Given the description of an element on the screen output the (x, y) to click on. 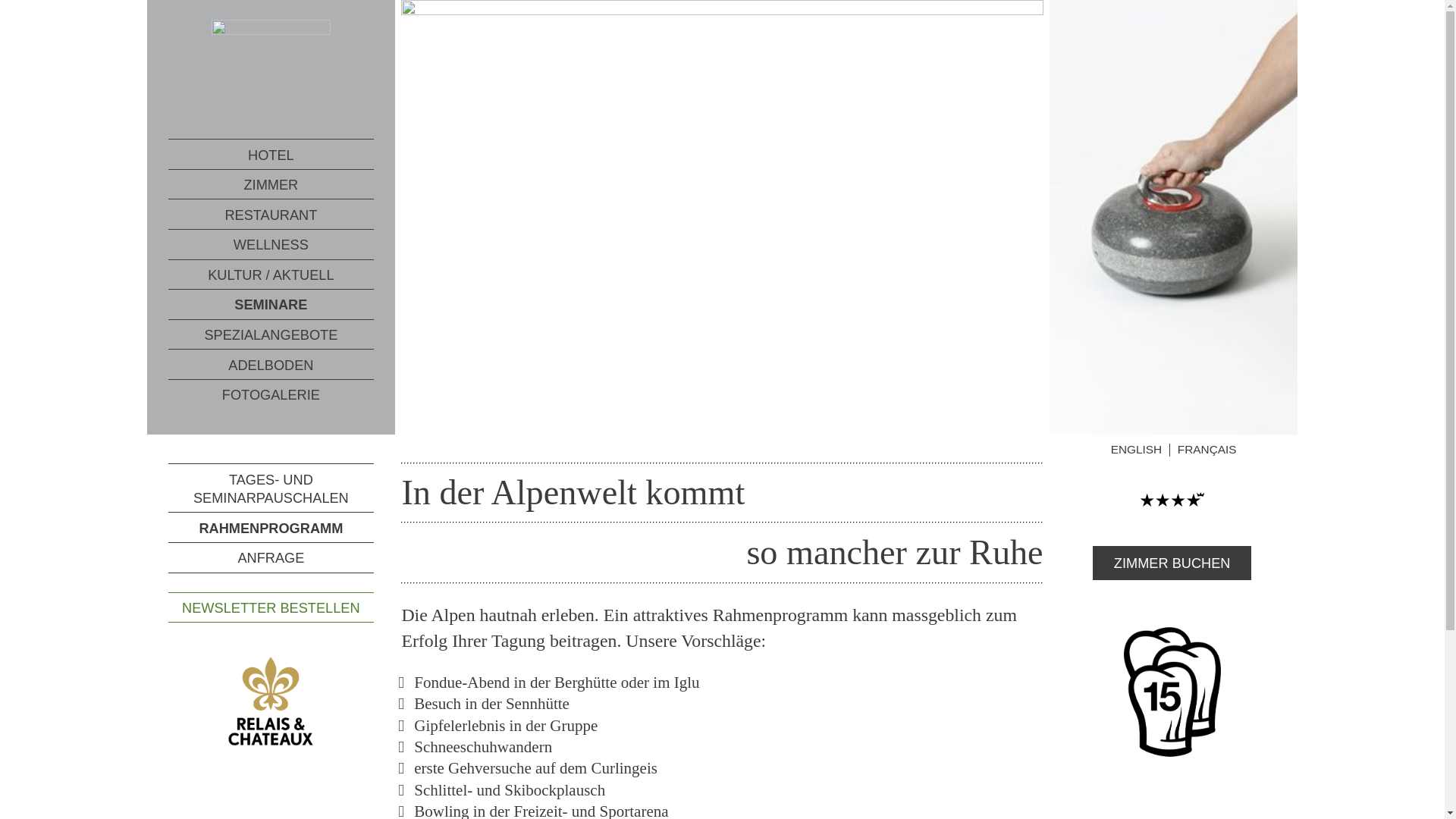
TAGES- UND SEMINARPAUSCHALEN Element type: text (270, 487)
FOTOGALERIE Element type: text (270, 394)
ZIMMER BUCHEN Element type: text (1172, 563)
KULTUR / AKTUELL Element type: text (270, 274)
ANFRAGE Element type: text (270, 557)
ENGLISH Element type: text (1136, 449)
ADELBODEN Element type: text (270, 364)
ZIMMER Element type: text (270, 184)
HOTEL Element type: text (270, 154)
SPEZIALANGEBOTE Element type: text (270, 334)
RAHMENPROGRAMM Element type: text (270, 526)
SEMINARE Element type: text (270, 304)
WELLNESS Element type: text (270, 244)
NEWSLETTER BESTELLEN Element type: text (270, 606)
RESTAURANT Element type: text (270, 214)
